Given the description of an element on the screen output the (x, y) to click on. 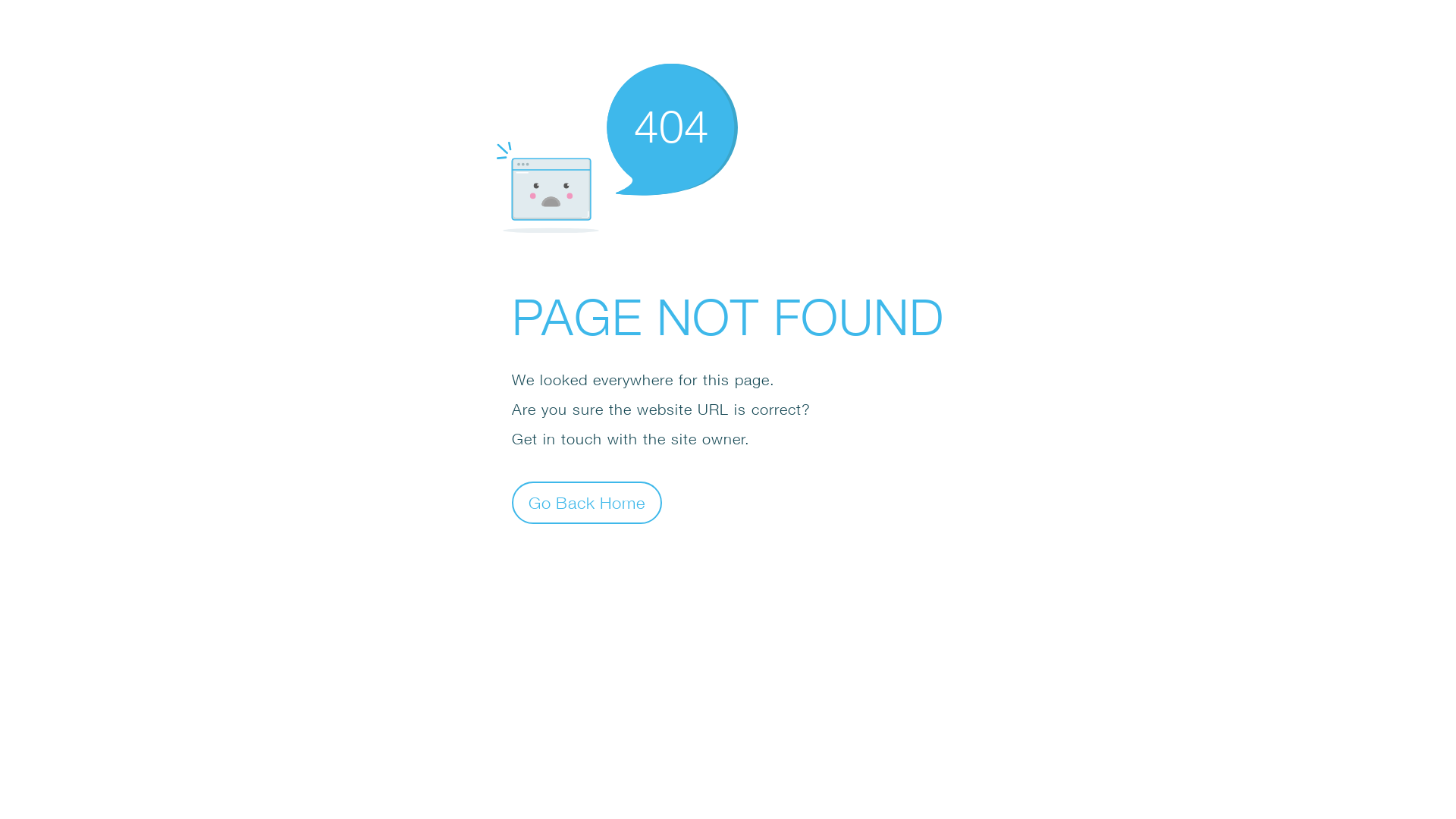
Go Back Home Element type: text (586, 502)
